Given the description of an element on the screen output the (x, y) to click on. 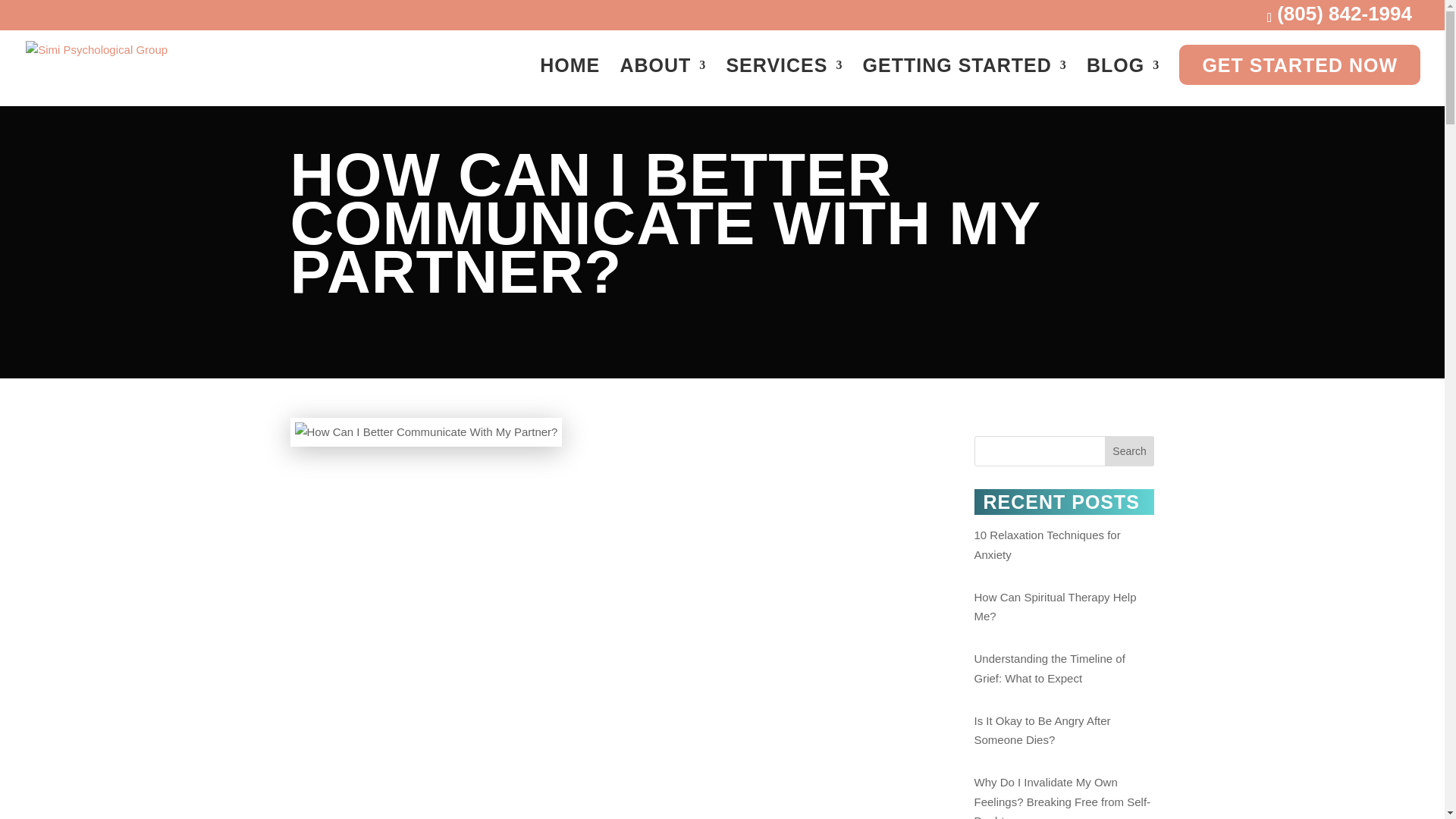
SERVICES (784, 78)
ABOUT (663, 78)
Search (1129, 450)
HOME (569, 78)
